Given the description of an element on the screen output the (x, y) to click on. 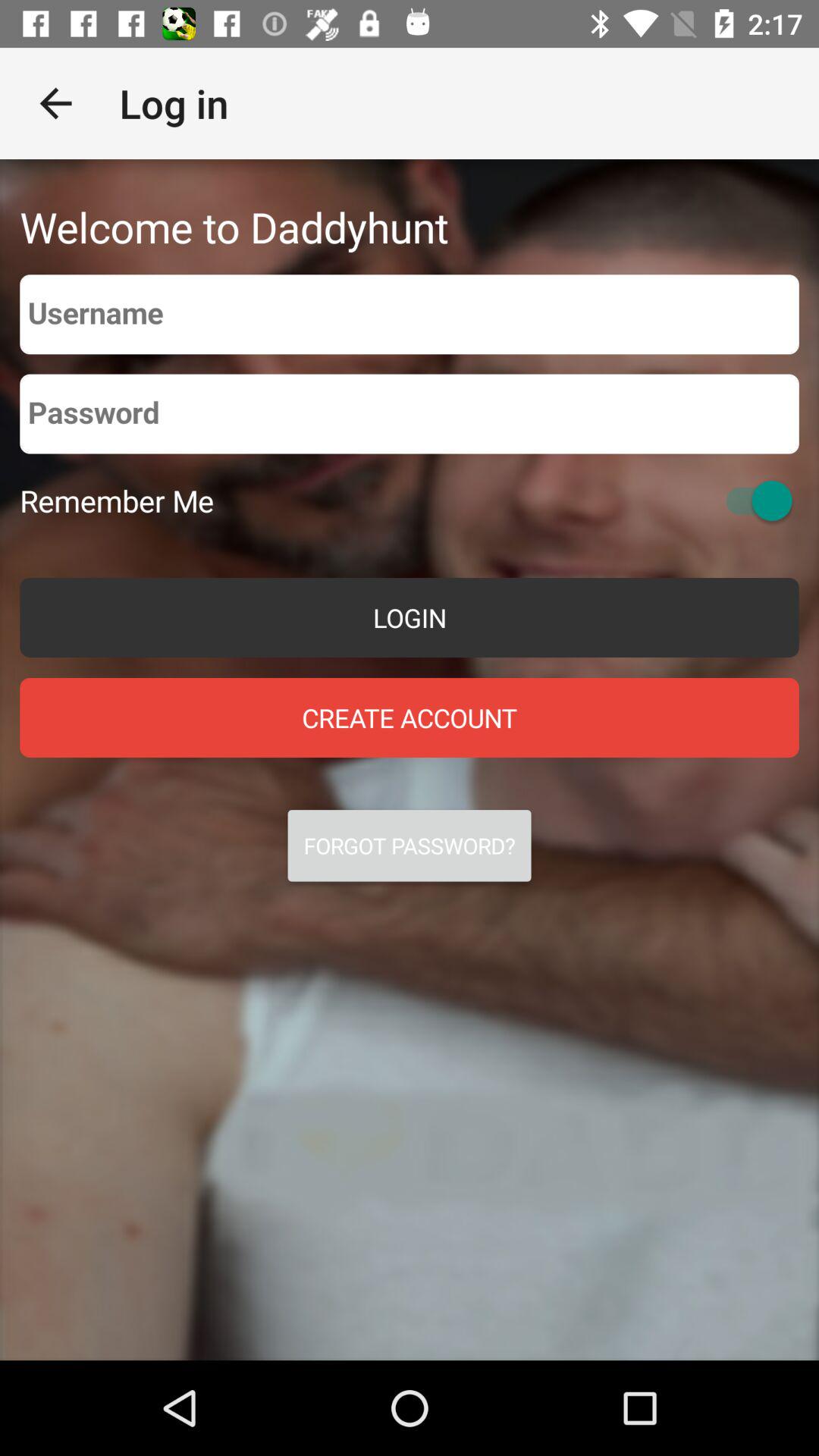
turn on the create account (409, 717)
